Given the description of an element on the screen output the (x, y) to click on. 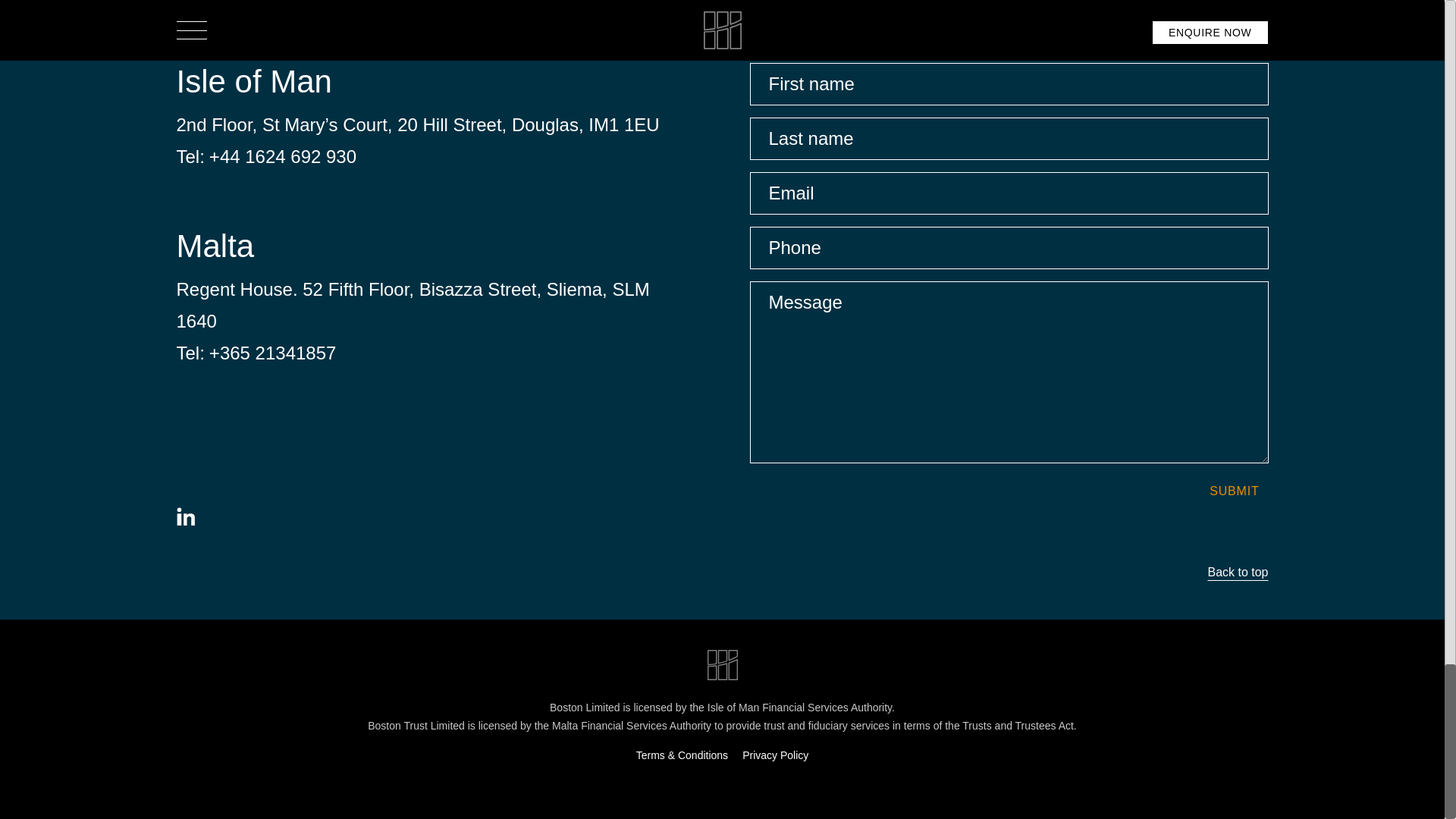
LinkedIn (184, 515)
Back to top (722, 572)
Privacy Policy (775, 755)
SUBMIT (1233, 490)
